Given the description of an element on the screen output the (x, y) to click on. 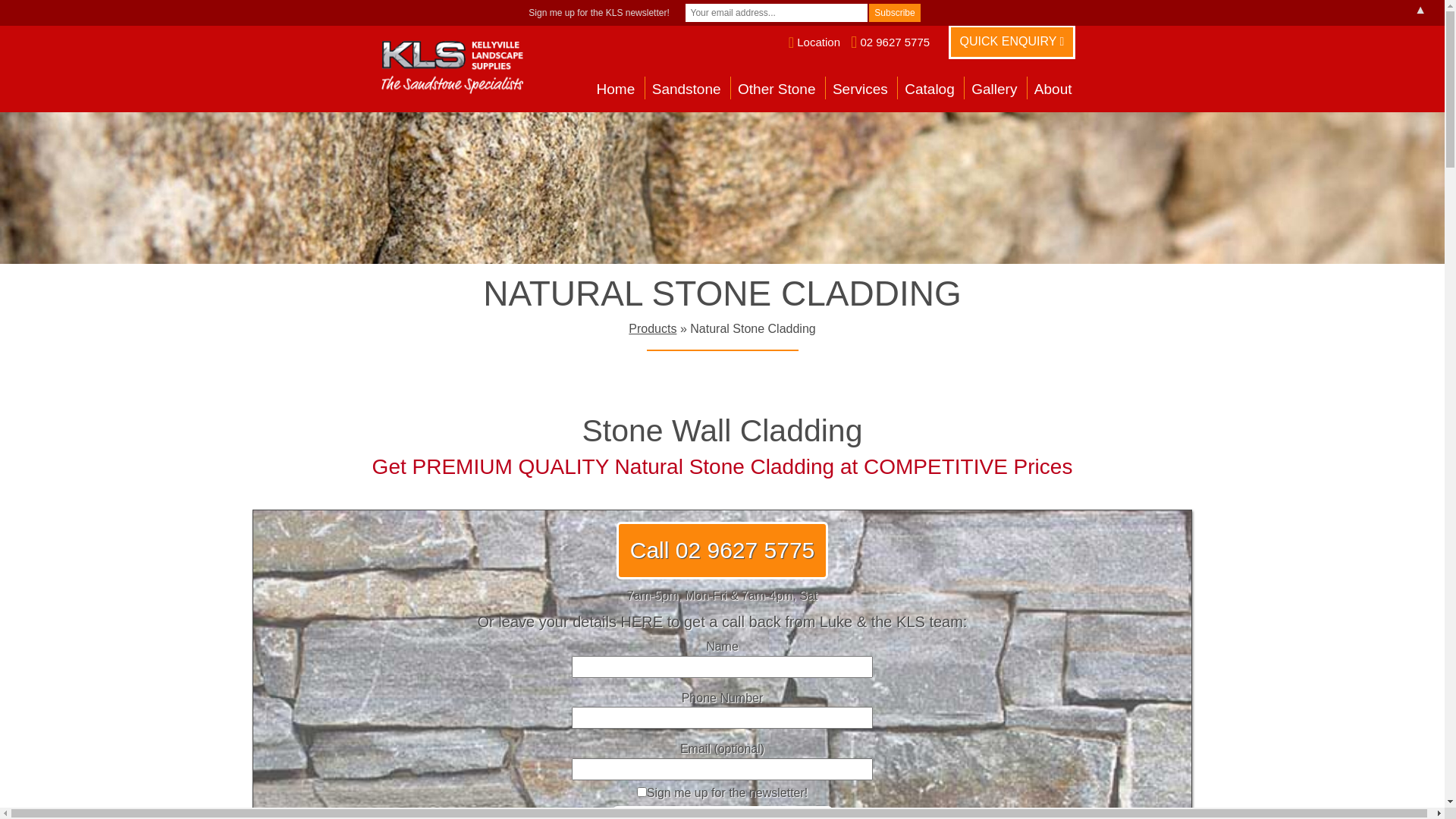
Sandstone Element type: text (686, 91)
QUICK ENQUIRY Element type: text (1012, 42)
Catalog Element type: text (929, 91)
Call 02 9627 5775 Element type: text (722, 550)
Other Stone Element type: text (776, 91)
02 9627 5775 Element type: text (889, 41)
Gallery Element type: text (993, 91)
Location Element type: text (814, 41)
Services Element type: text (860, 91)
Subscribe Element type: text (894, 12)
About Element type: text (1052, 91)
Products Element type: text (652, 328)
Home Element type: text (616, 91)
